Given the description of an element on the screen output the (x, y) to click on. 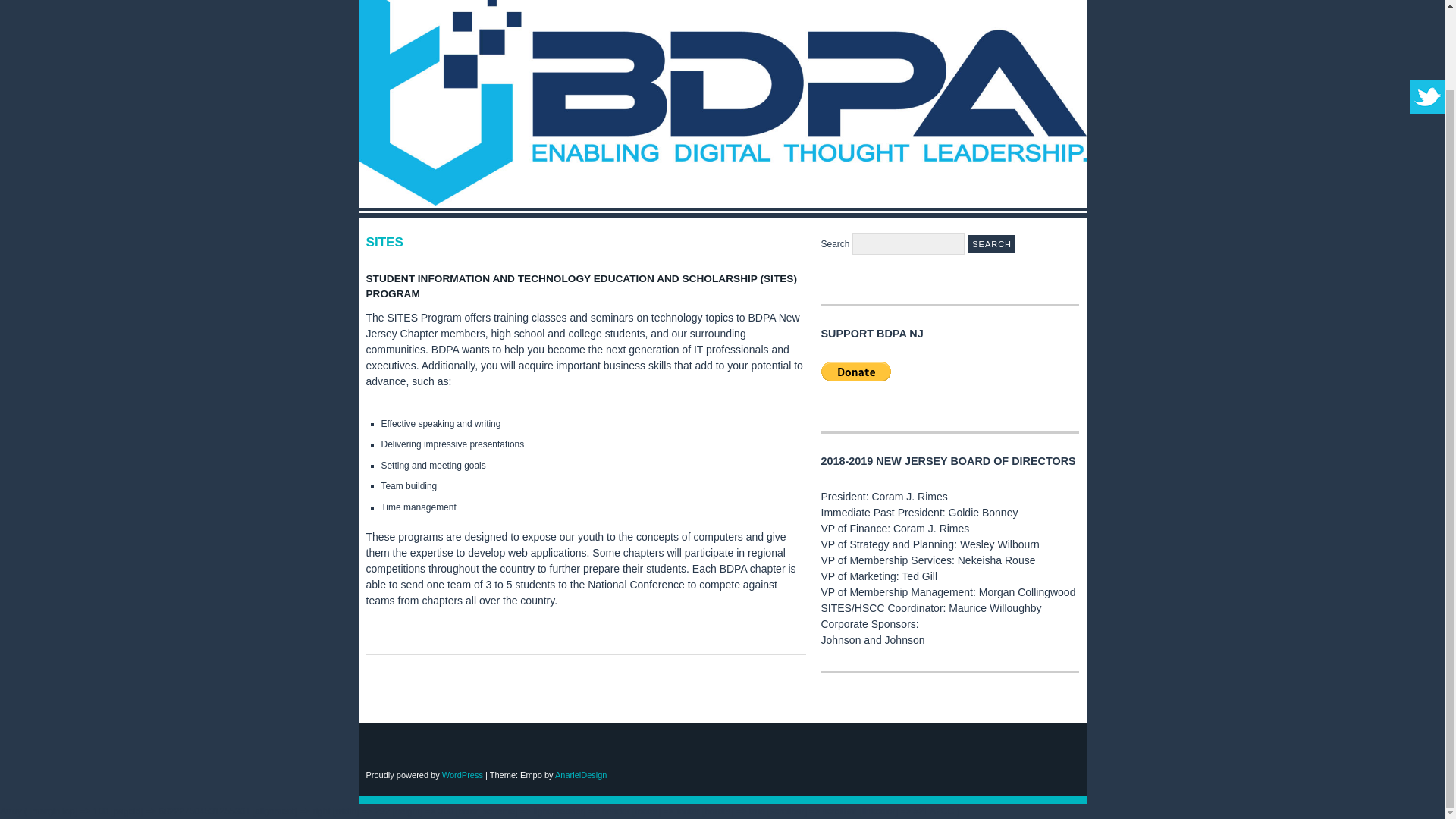
Search (991, 244)
AnarielDesign (580, 774)
Search (991, 244)
Search (991, 244)
WordPress (462, 774)
